Given the description of an element on the screen output the (x, y) to click on. 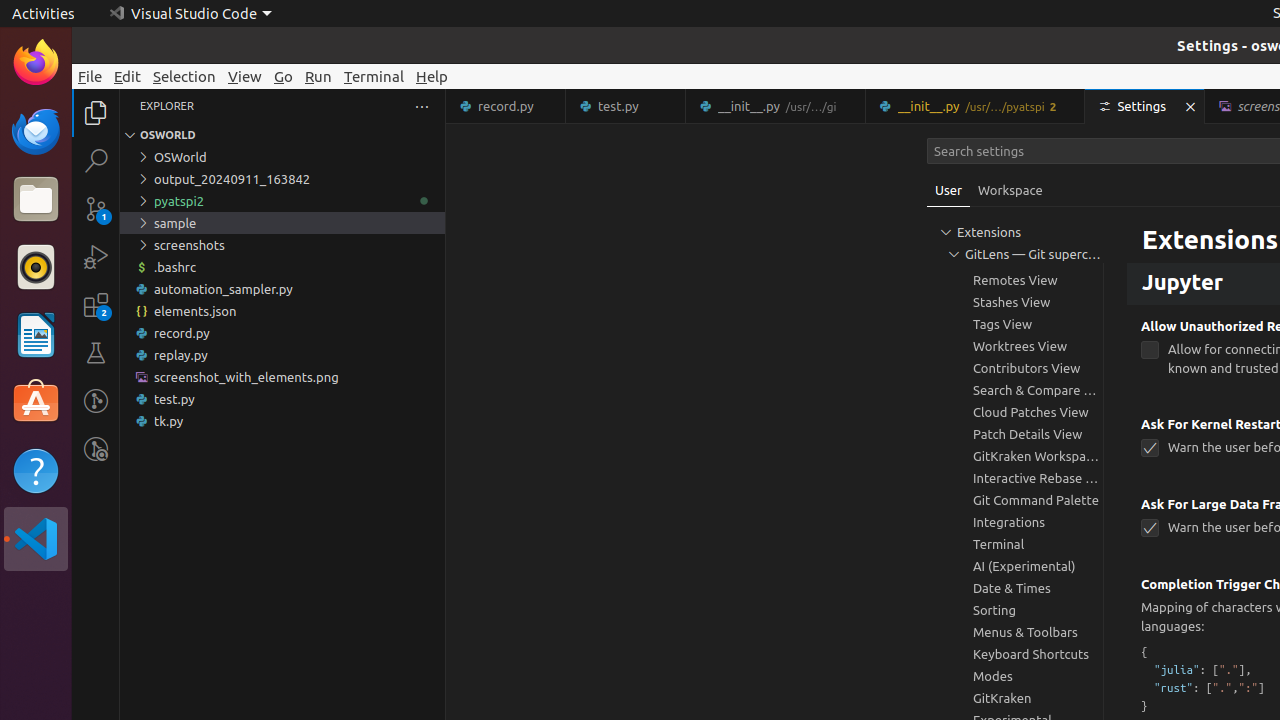
Interactive Rebase Editor, group Element type: tree-item (1015, 478)
Terminal, group Element type: tree-item (1015, 544)
Date & Times, group Element type: tree-item (1015, 588)
File Element type: push-button (90, 76)
Extensions (Ctrl+Shift+X) - 2 require restart Extensions (Ctrl+Shift+X) - 2 require restart Element type: page-tab (96, 305)
